Given the description of an element on the screen output the (x, y) to click on. 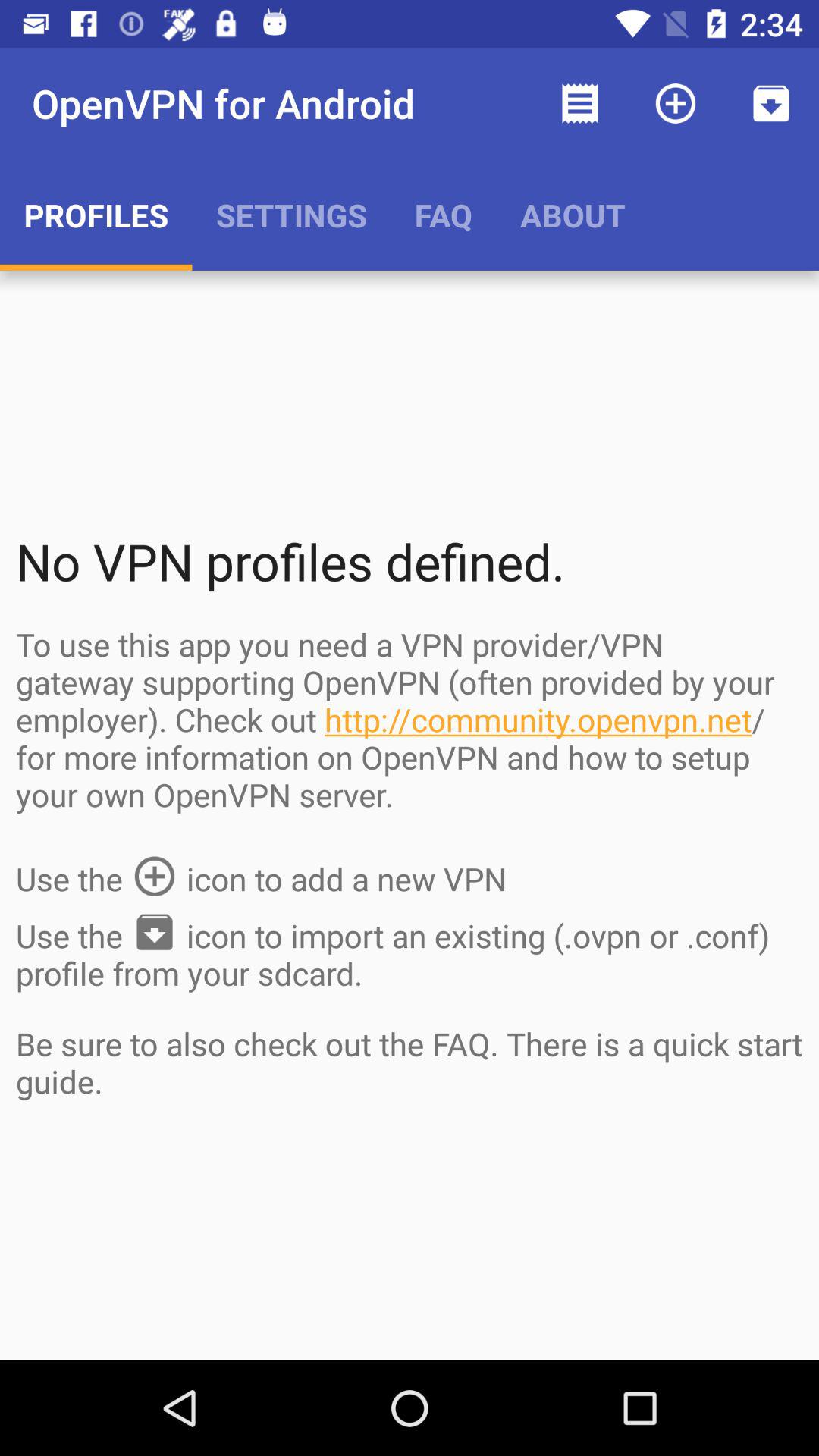
tap app to the right of profiles item (291, 214)
